Given the description of an element on the screen output the (x, y) to click on. 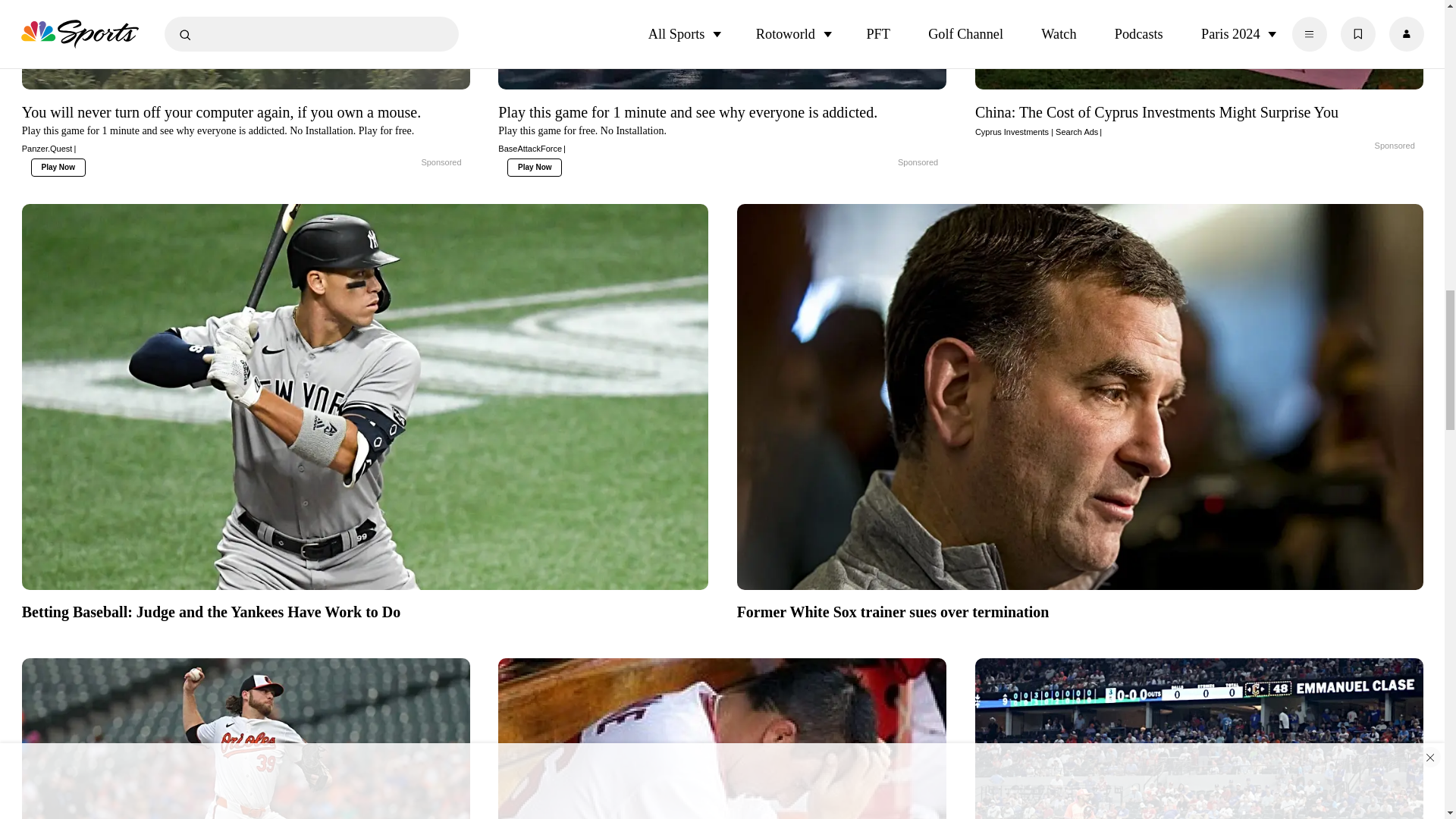
Former White Sox trainer sues over termination (1079, 609)
China: The Cost of Cyprus Investments Might Surprise You (1359, 145)
China: The Cost of Cyprus Investments Might Surprise You (1199, 119)
Betting Baseball: Judge and the Yankees Have Work to Do (364, 609)
